Given the description of an element on the screen output the (x, y) to click on. 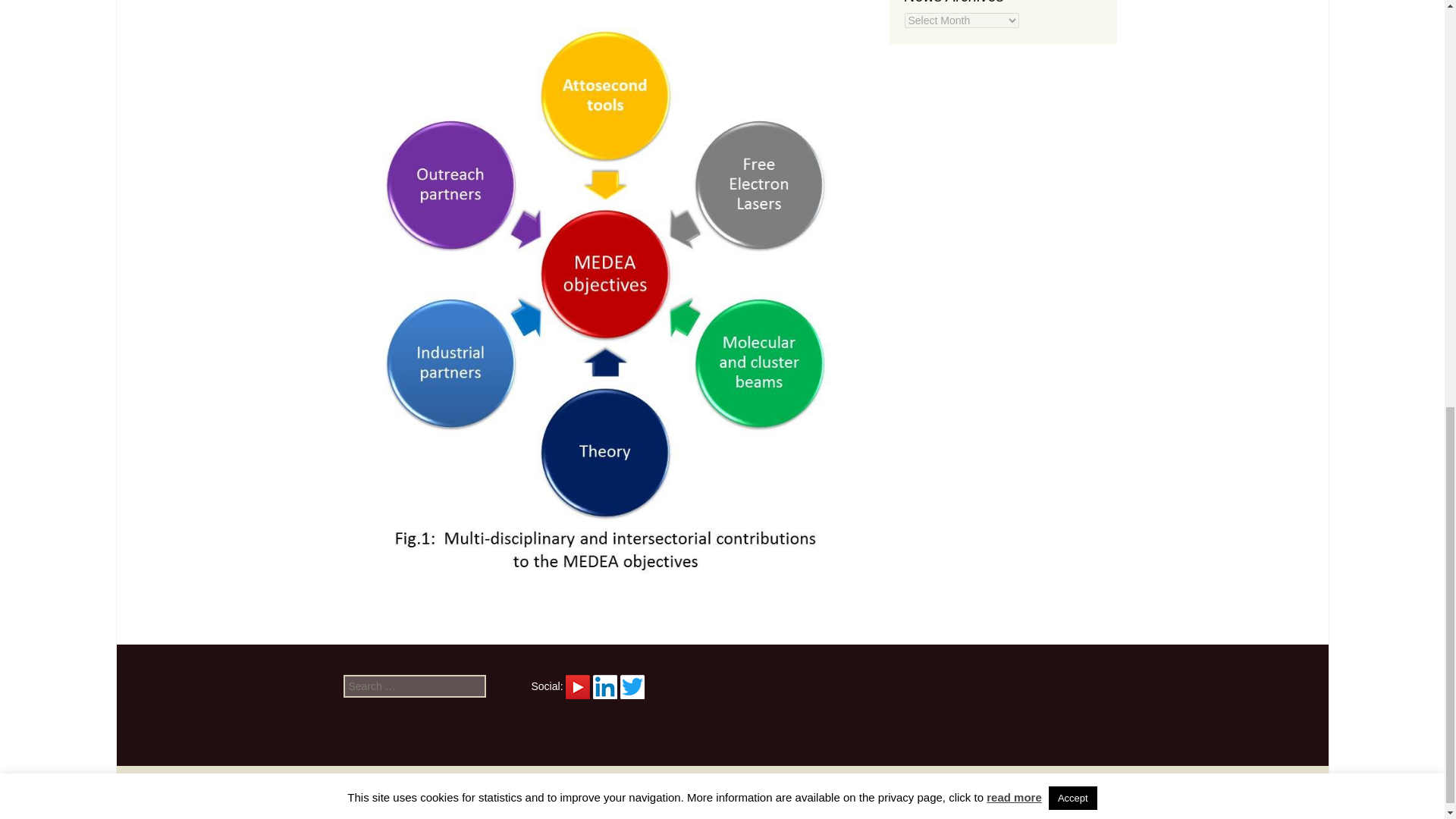
YouTube (577, 685)
Linkedin (604, 686)
Twitter (632, 686)
